Given the description of an element on the screen output the (x, y) to click on. 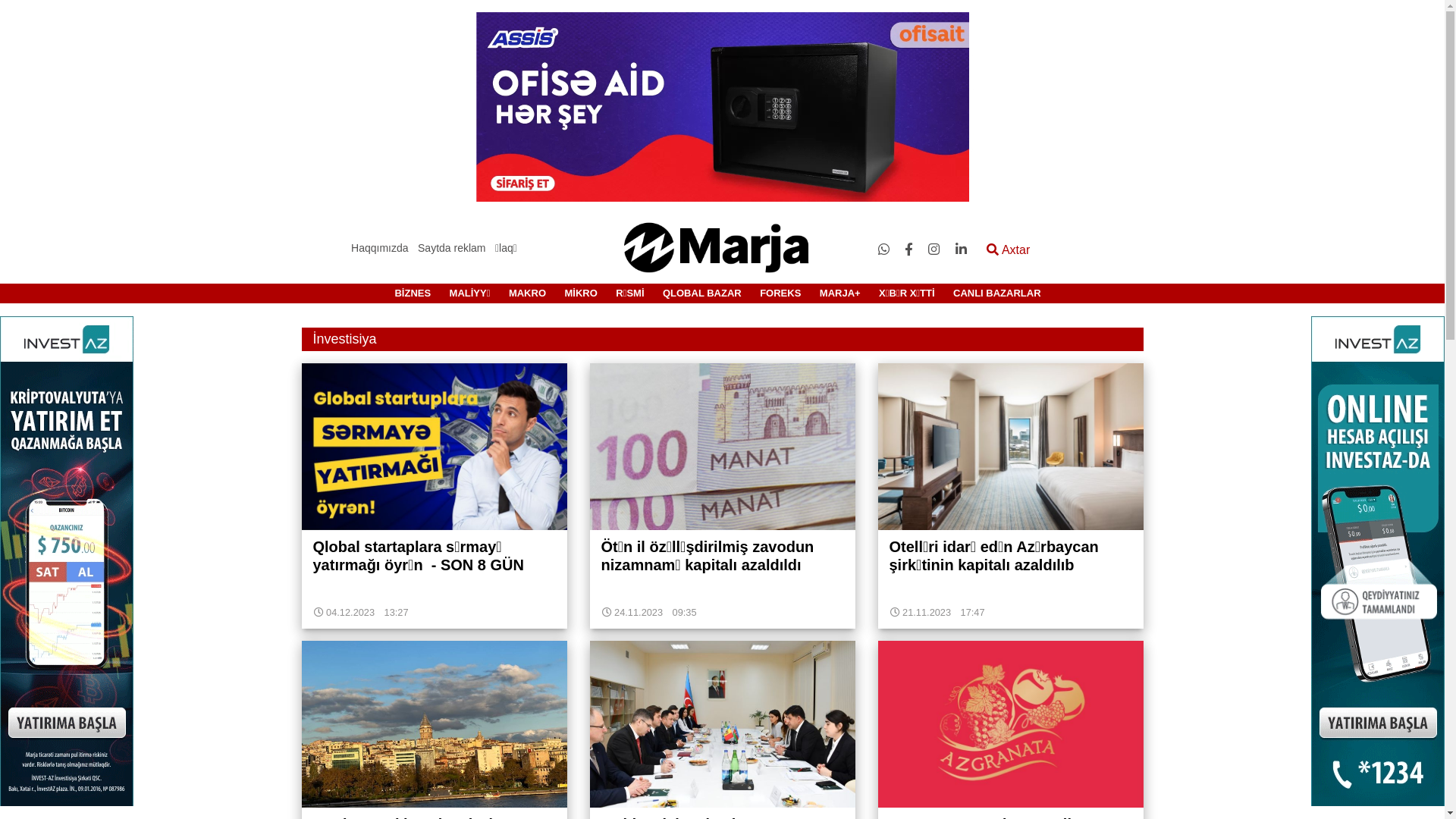
MARJA+ Element type: text (839, 292)
Saytda reklam Element type: text (451, 247)
MAKRO Element type: text (527, 292)
CANLI BAZARLAR Element type: text (997, 292)
Axtar Element type: text (1008, 250)
FOREKS Element type: text (779, 292)
QLOBAL BAZAR Element type: text (701, 292)
